Given the description of an element on the screen output the (x, y) to click on. 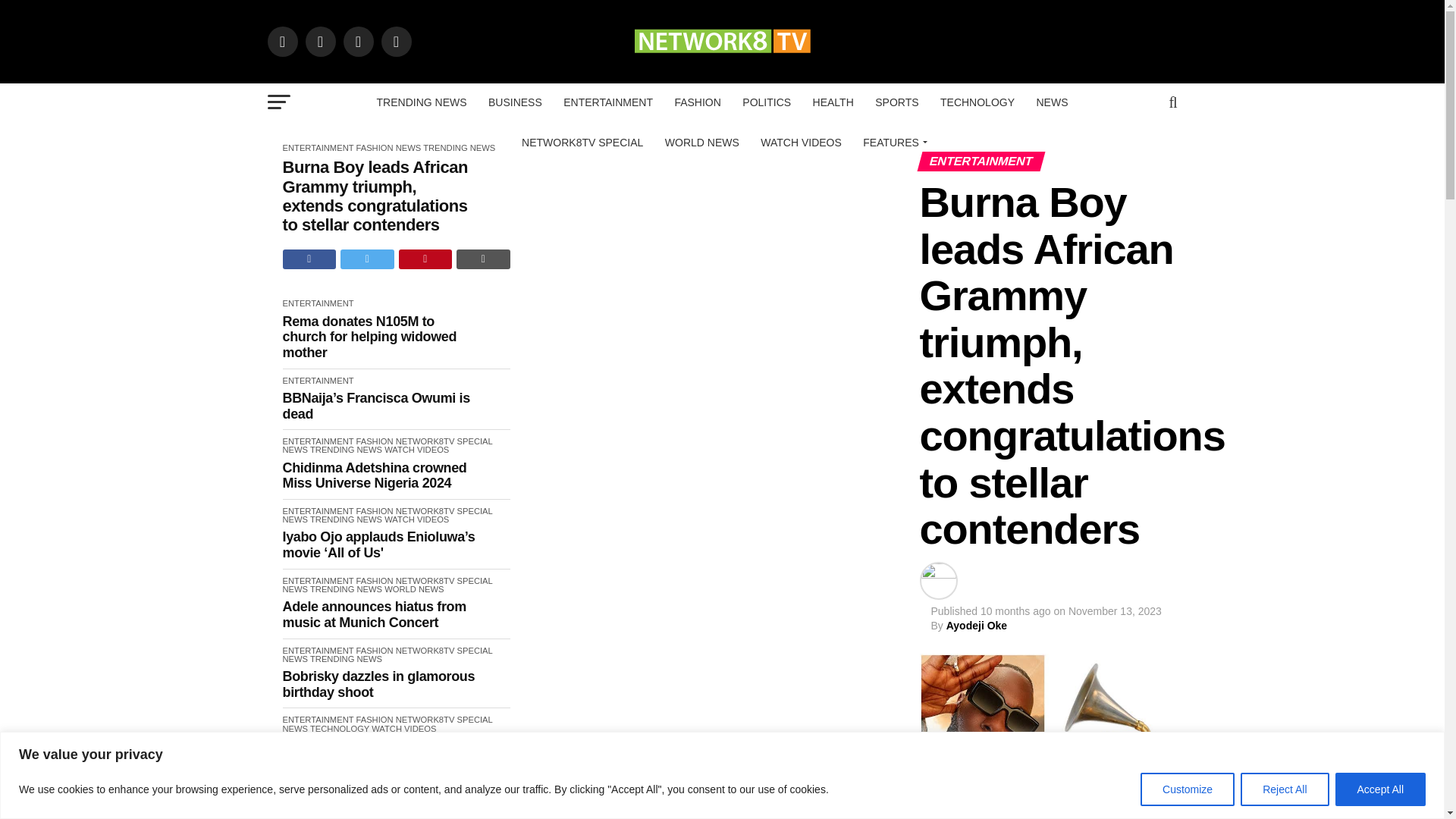
Customize (1187, 788)
Reject All (1283, 788)
TRENDING NEWS (422, 102)
Pin This Post (425, 259)
Accept All (1380, 788)
Tweet This Post (367, 259)
Share on Facebook (309, 259)
